Given the description of an element on the screen output the (x, y) to click on. 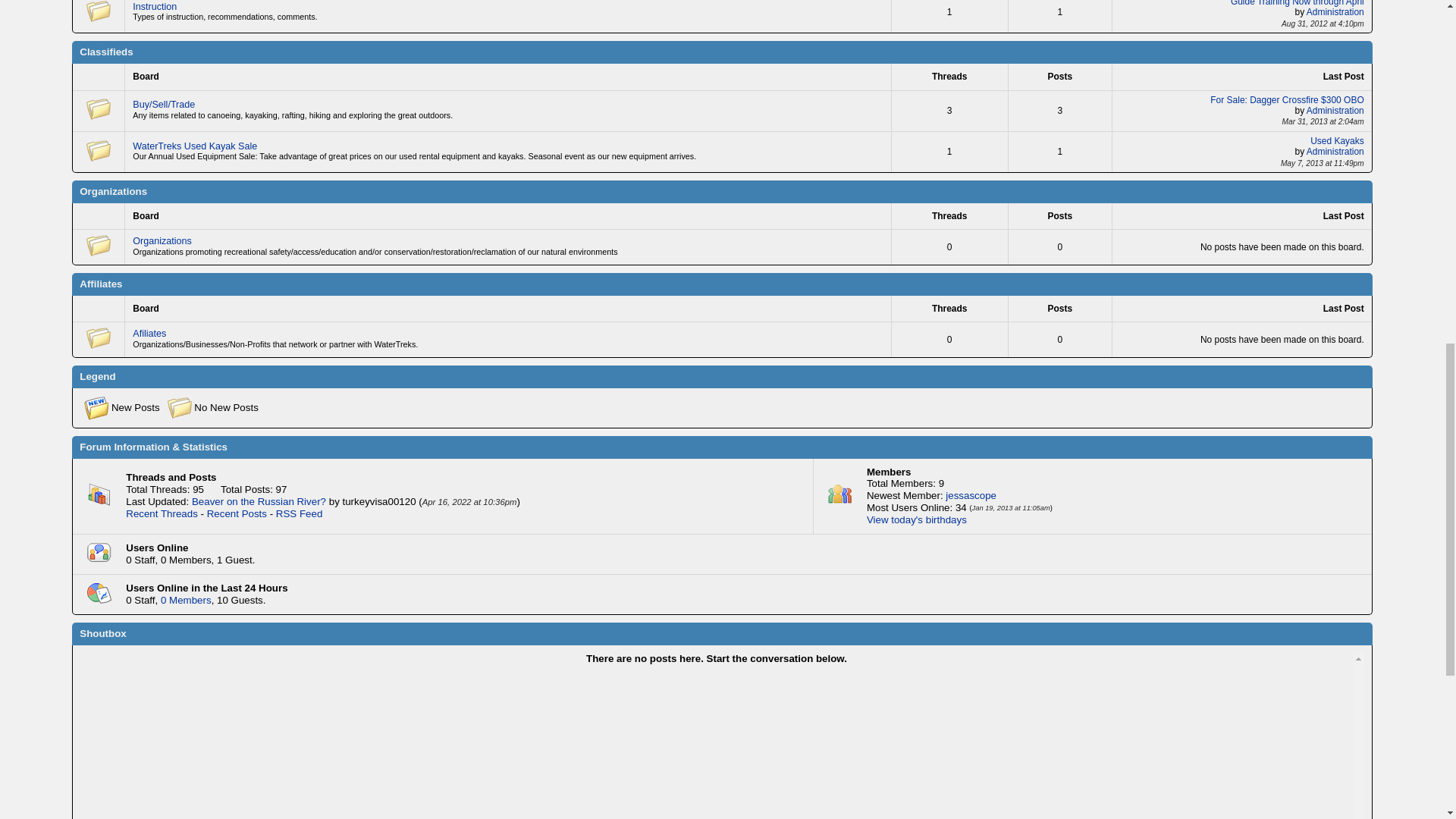
No New Posts (97, 11)
No New Posts (97, 109)
